Given the description of an element on the screen output the (x, y) to click on. 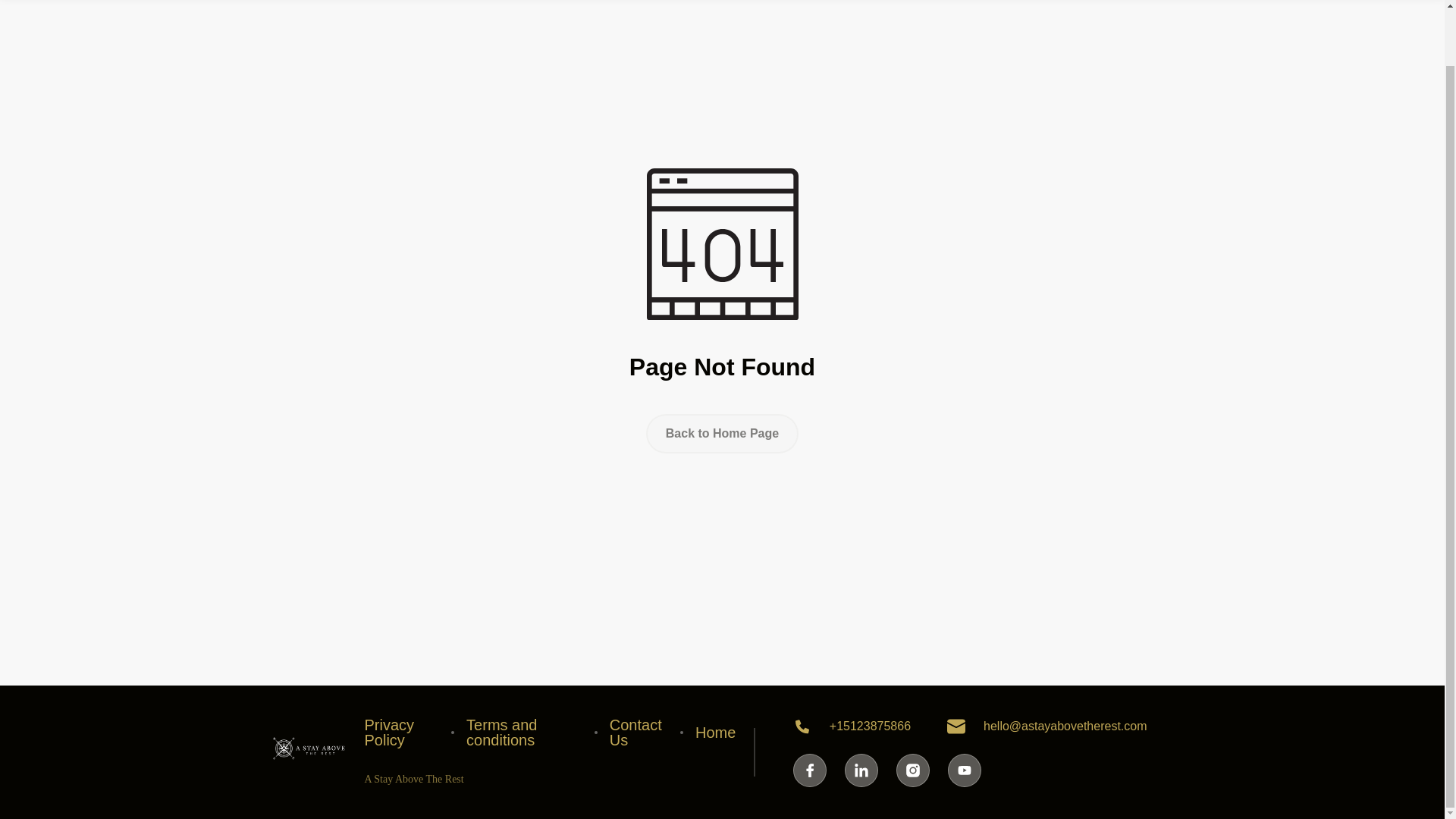
Home (715, 732)
Contact Us (639, 732)
Privacy Policy (401, 732)
Terms and conditions (523, 732)
Back to Home Page (721, 433)
